Given the description of an element on the screen output the (x, y) to click on. 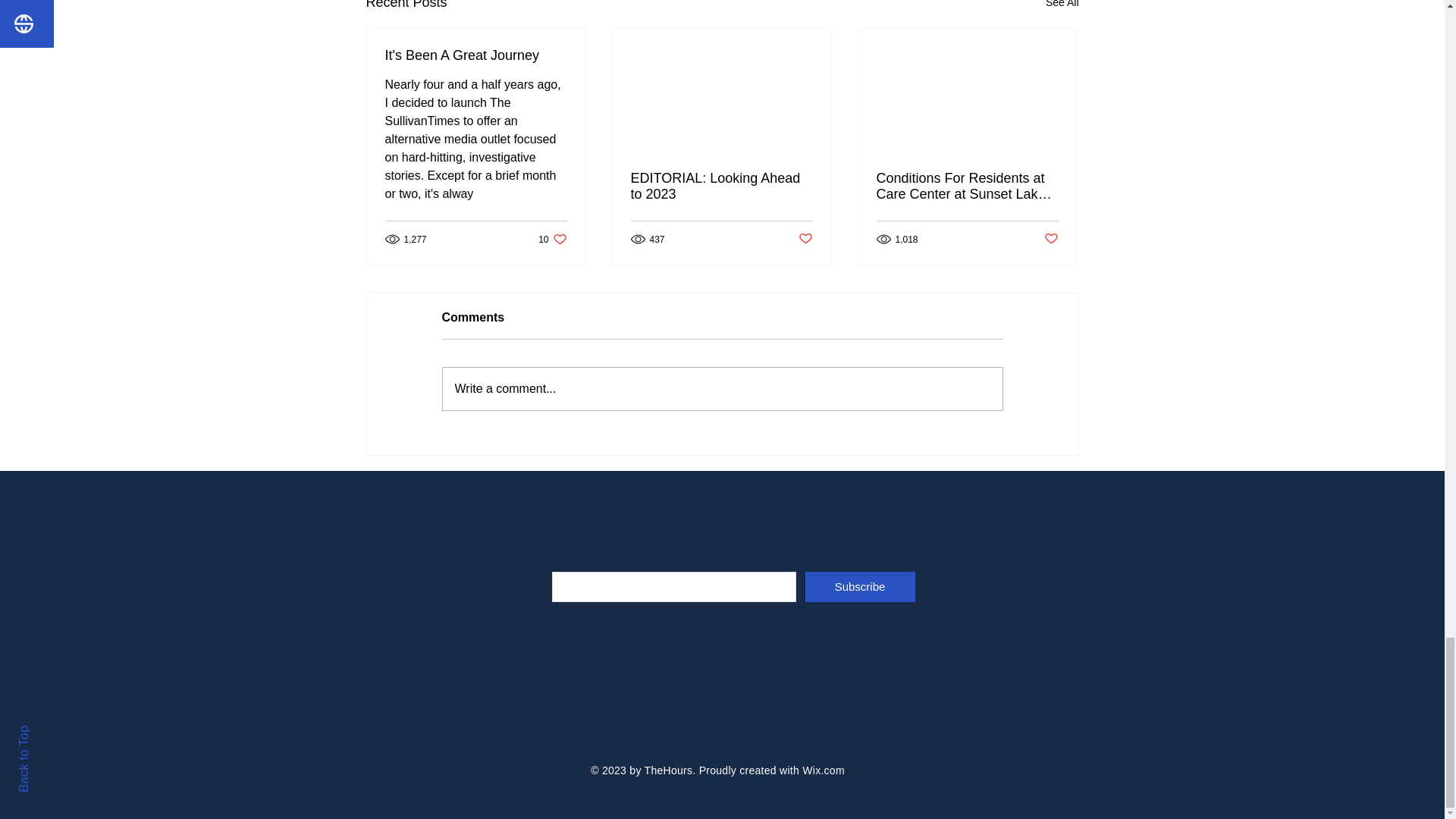
See All (1061, 6)
EDITORIAL: Looking Ahead to 2023 (721, 186)
Post not marked as liked (804, 238)
Subscribe (860, 586)
It's Been A Great Journey (476, 55)
Write a comment... (722, 388)
Wix.com (552, 238)
Post not marked as liked (823, 770)
